Given the description of an element on the screen output the (x, y) to click on. 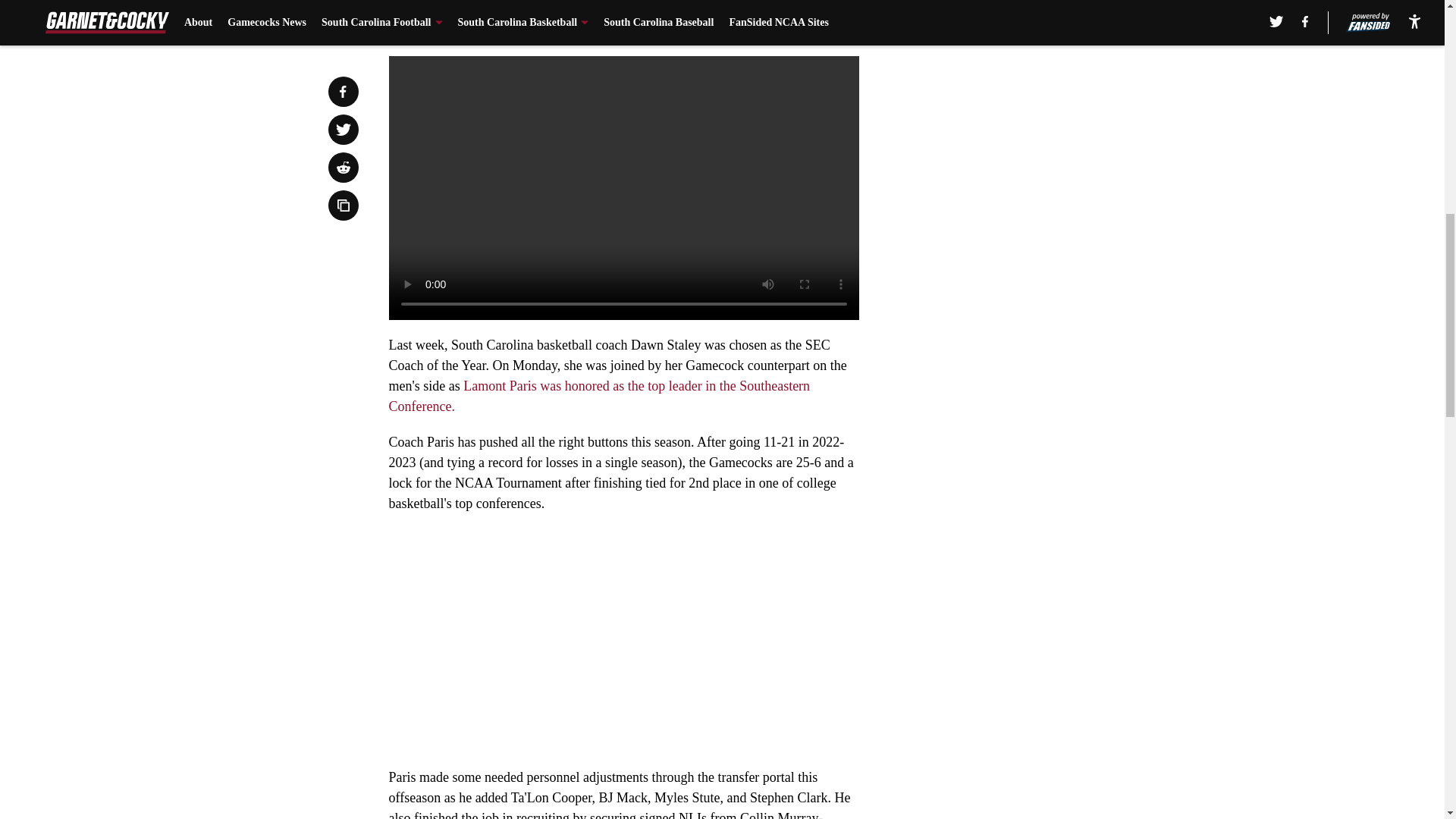
3rd party ad content (1047, 150)
3rd party ad content (1047, 371)
